Given the description of an element on the screen output the (x, y) to click on. 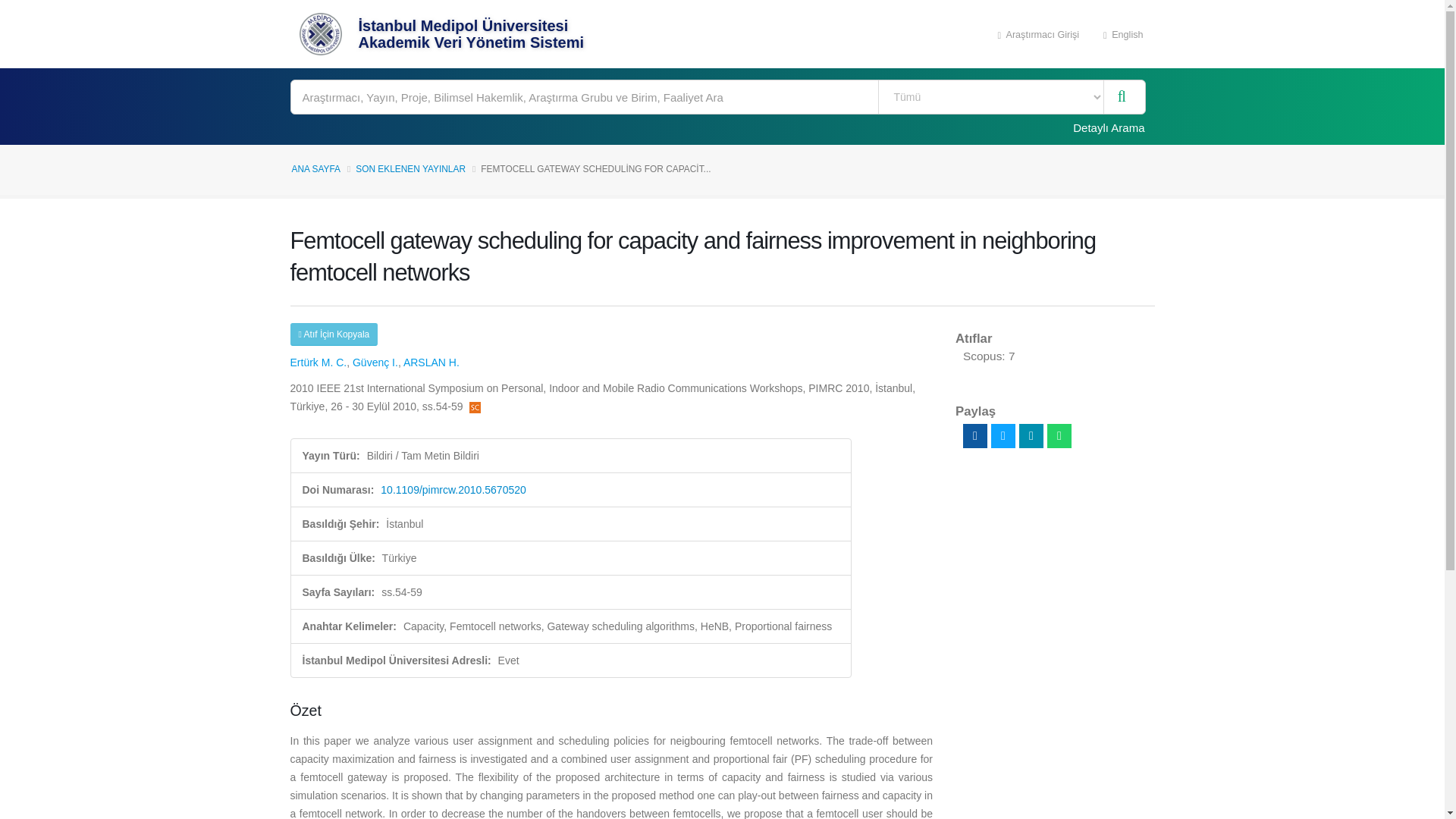
ANA SAYFA (315, 168)
ARSLAN H. (431, 362)
English (1123, 33)
SON EKLENEN YAYINLAR (410, 168)
